Given the description of an element on the screen output the (x, y) to click on. 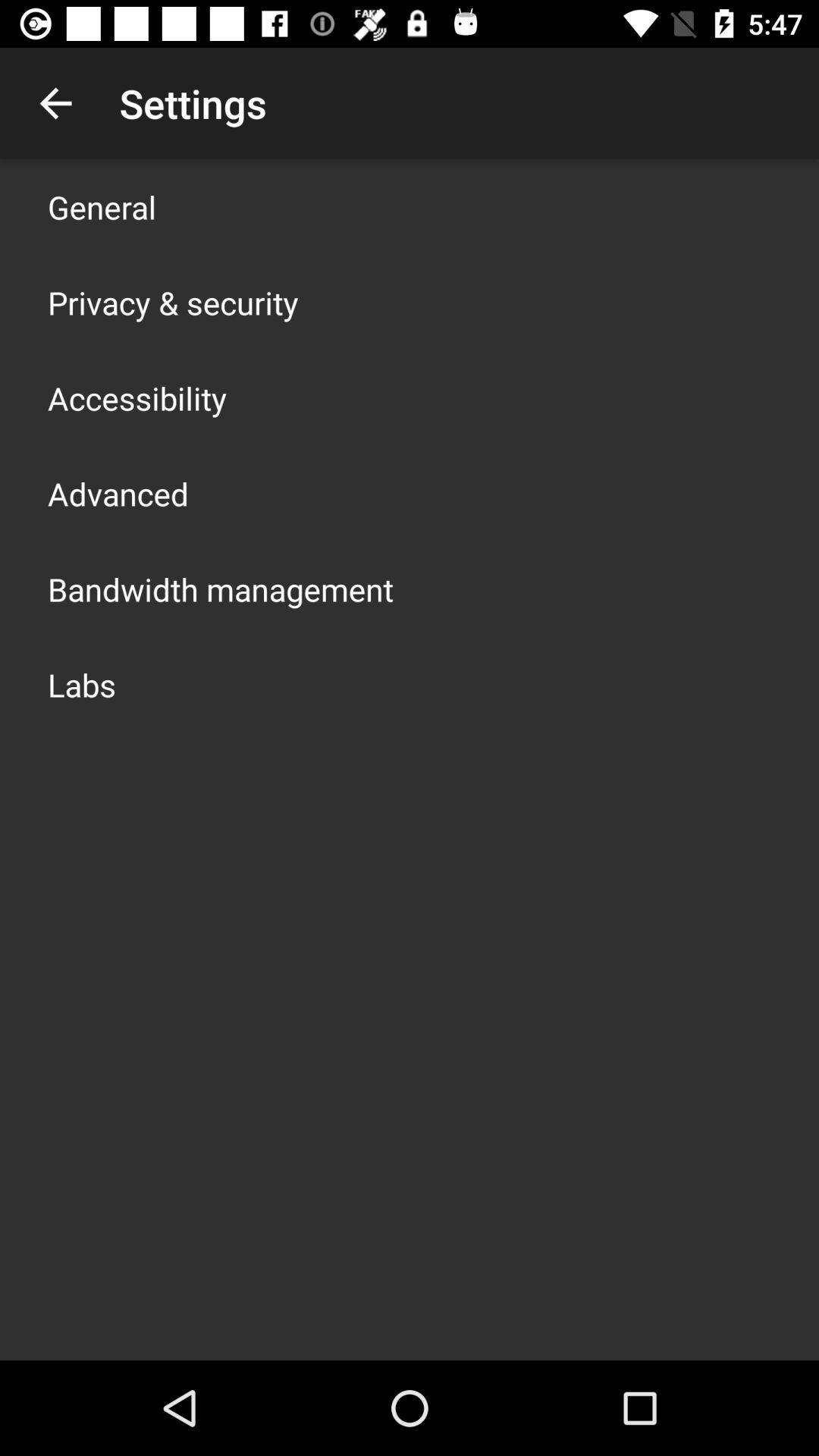
launch the item below the accessibility icon (117, 493)
